Given the description of an element on the screen output the (x, y) to click on. 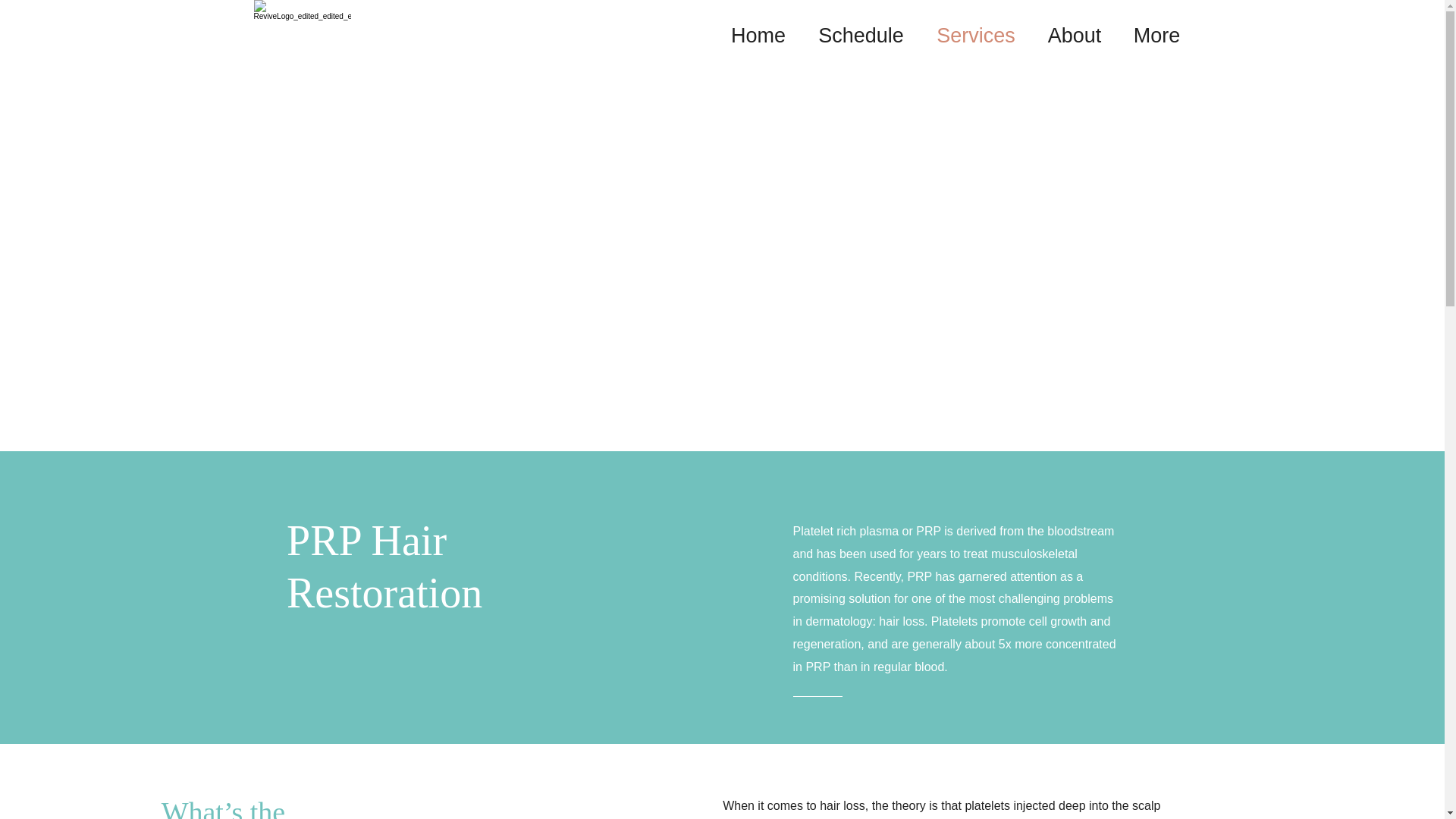
Home (758, 35)
About (1073, 35)
Services (976, 35)
Schedule (861, 35)
